Given the description of an element on the screen output the (x, y) to click on. 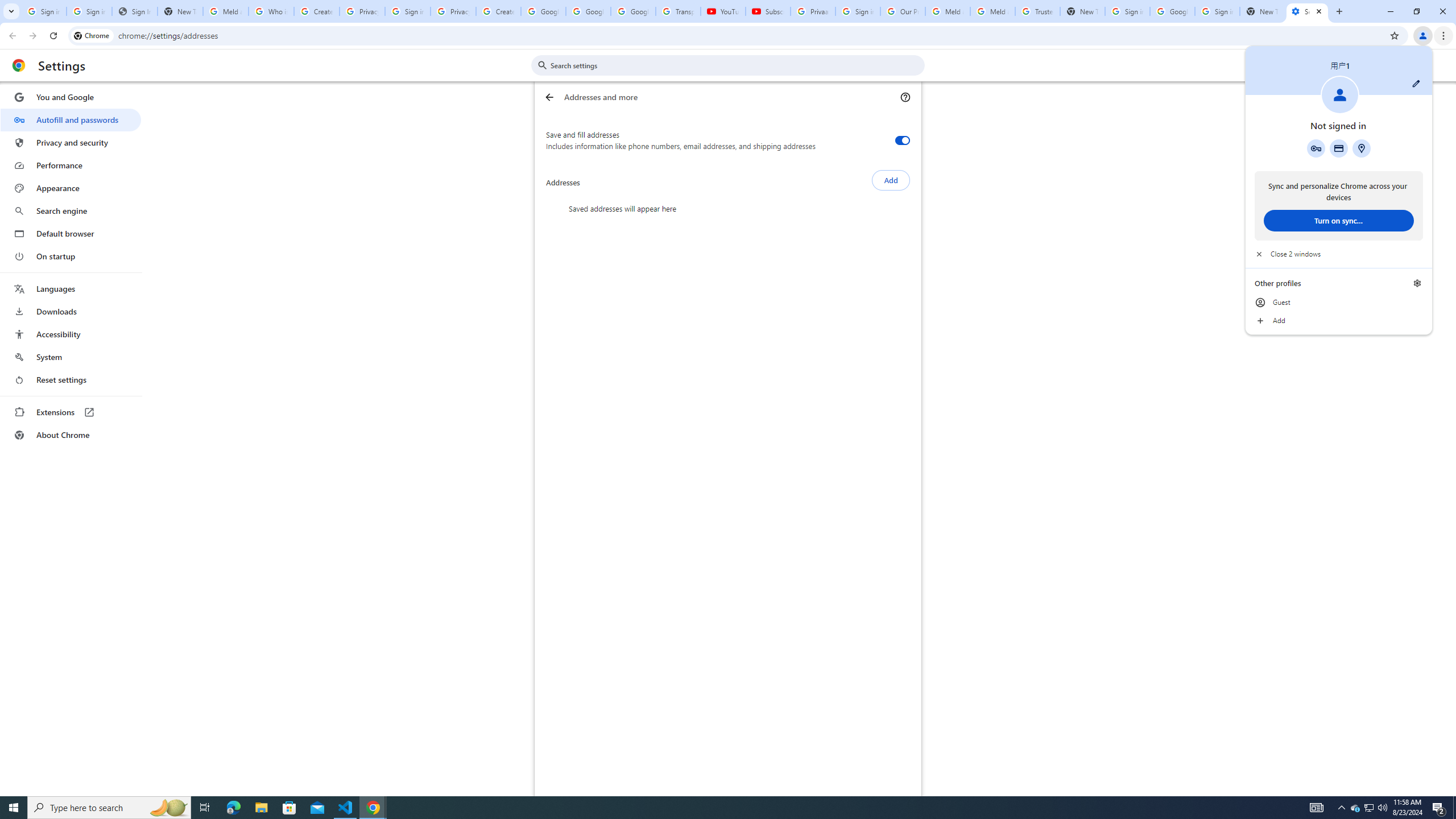
Subscriptions - YouTube (767, 11)
AutomationID: 4105 (1316, 807)
Autofill and passwords (1355, 807)
Create your Google Account (70, 119)
Default browser (497, 11)
Trusted Information and Content - Google Safety Center (70, 233)
AutomationID: menu (1037, 11)
